Given the description of an element on the screen output the (x, y) to click on. 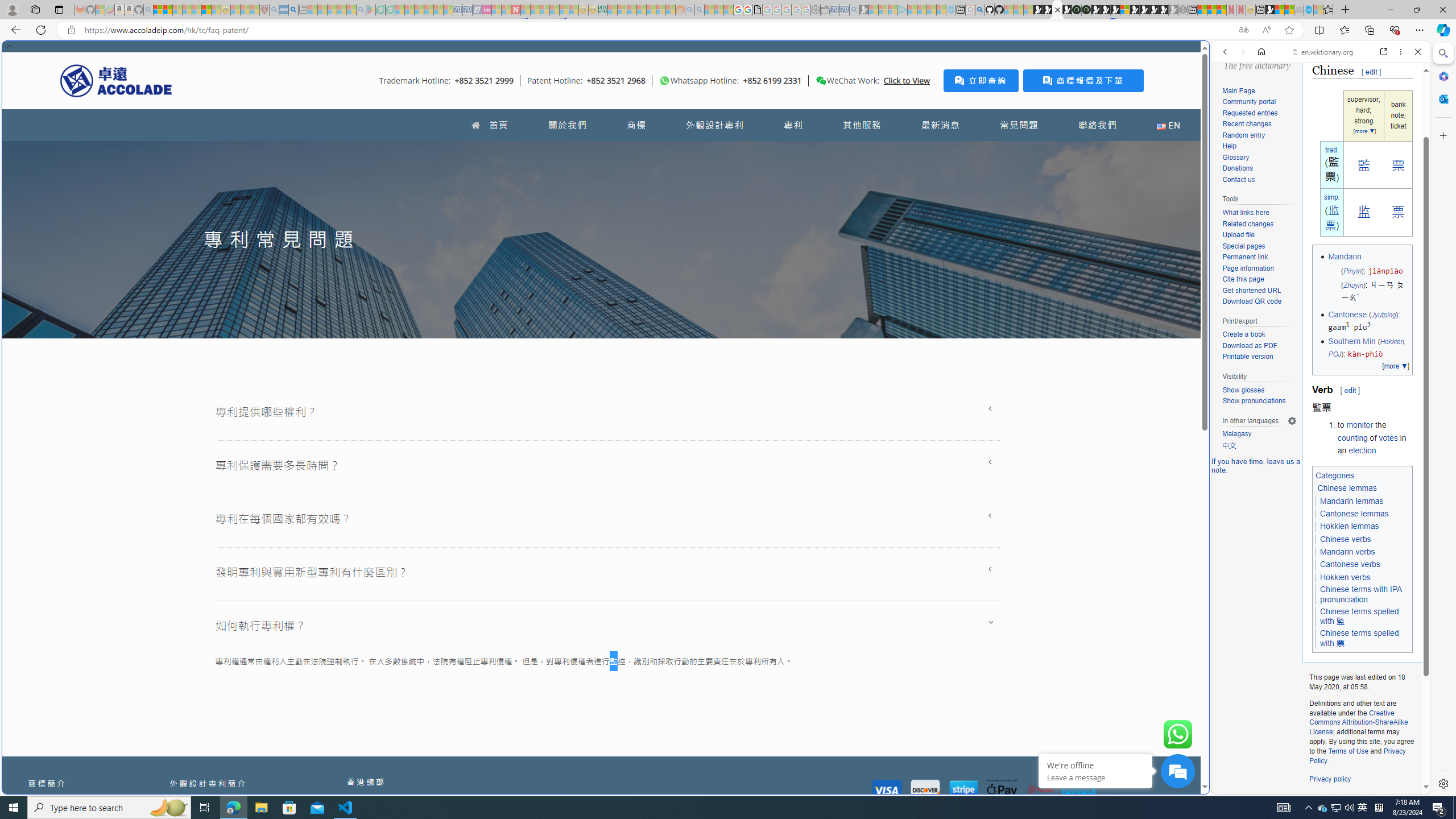
Privacy policy (1329, 779)
monitor (1359, 424)
Show glosses (1259, 390)
What links here (1245, 212)
